Given the description of an element on the screen output the (x, y) to click on. 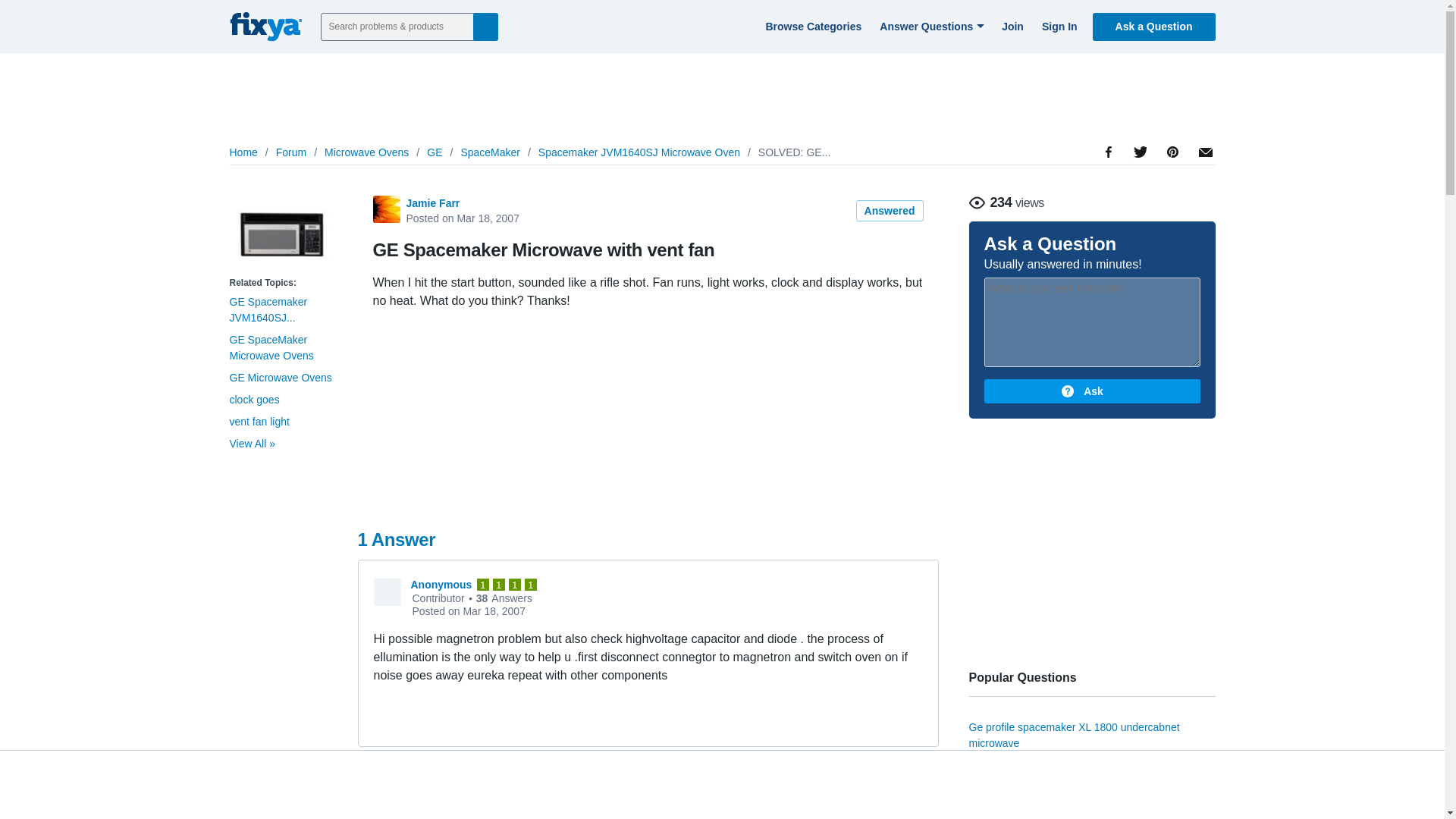
Home (242, 152)
Answer Questions (929, 26)
GE SpaceMaker Microwave Ovens (270, 347)
Ask (1091, 391)
GE Microwave Ovens (279, 377)
clock goes (253, 399)
Sign In (1056, 26)
Spacemaker JVM1640SJ Microwave Oven (638, 152)
Forum (290, 152)
GE Spacemaker JVM1640SJ... (267, 309)
GE Spacemaker JVM1640SJ Microwave Oven (280, 233)
SpaceMaker (489, 152)
Ask a Question (1154, 26)
Search Fixya (485, 26)
